Given the description of an element on the screen output the (x, y) to click on. 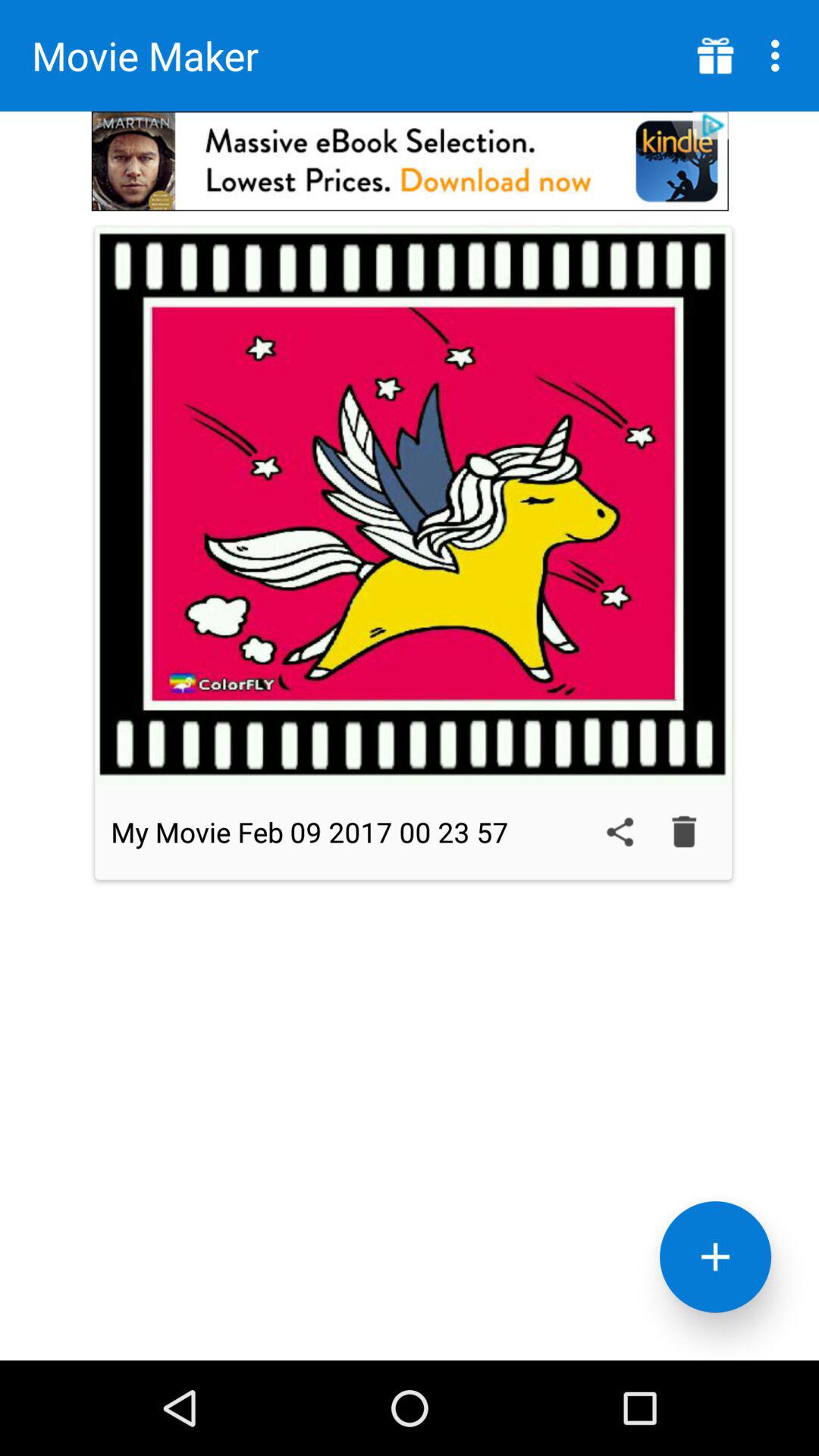
gift (715, 55)
